Given the description of an element on the screen output the (x, y) to click on. 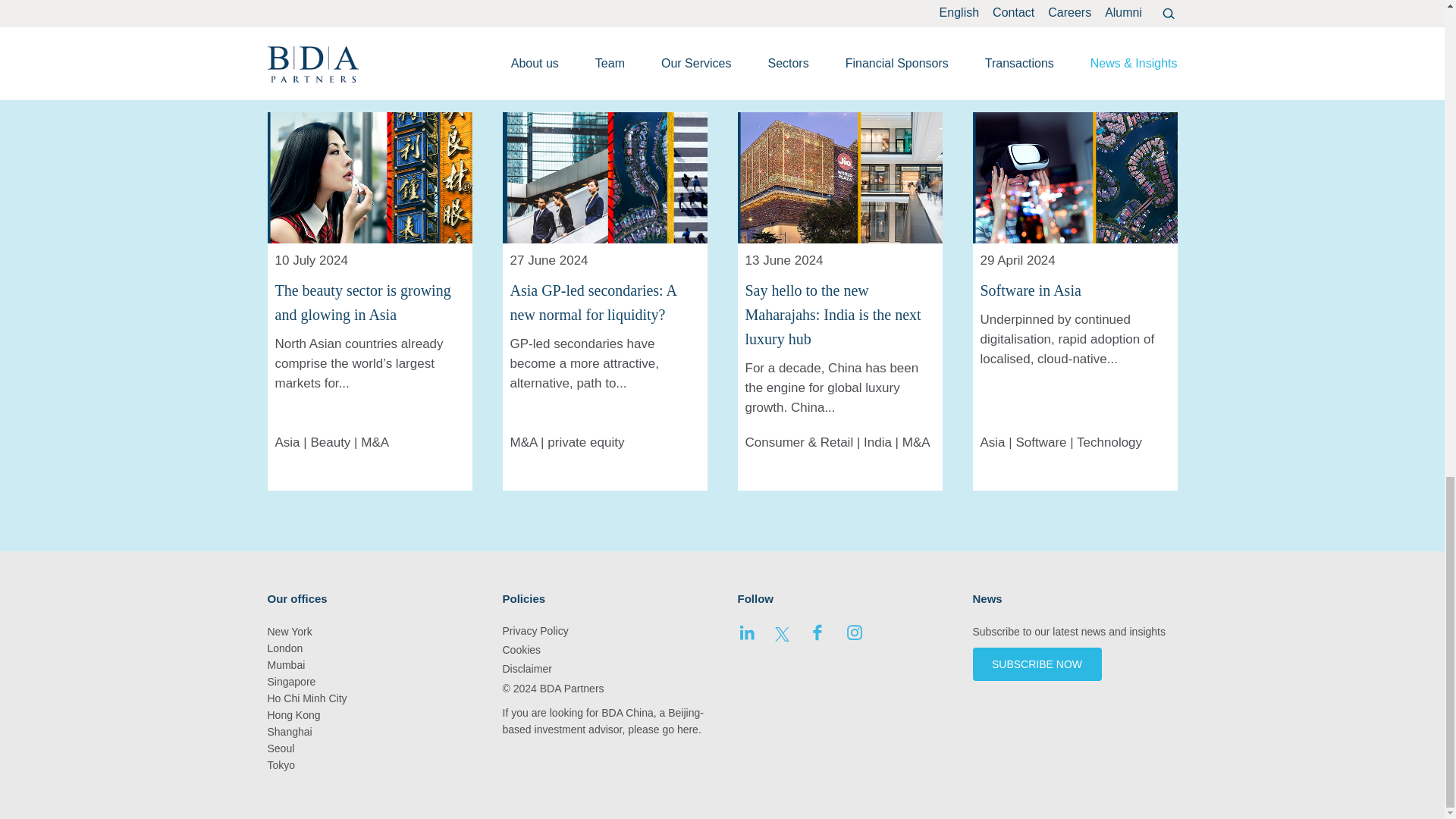
Instagram (853, 637)
Twitter (781, 637)
LinkedIn (745, 637)
Facebook (817, 637)
